Given the description of an element on the screen output the (x, y) to click on. 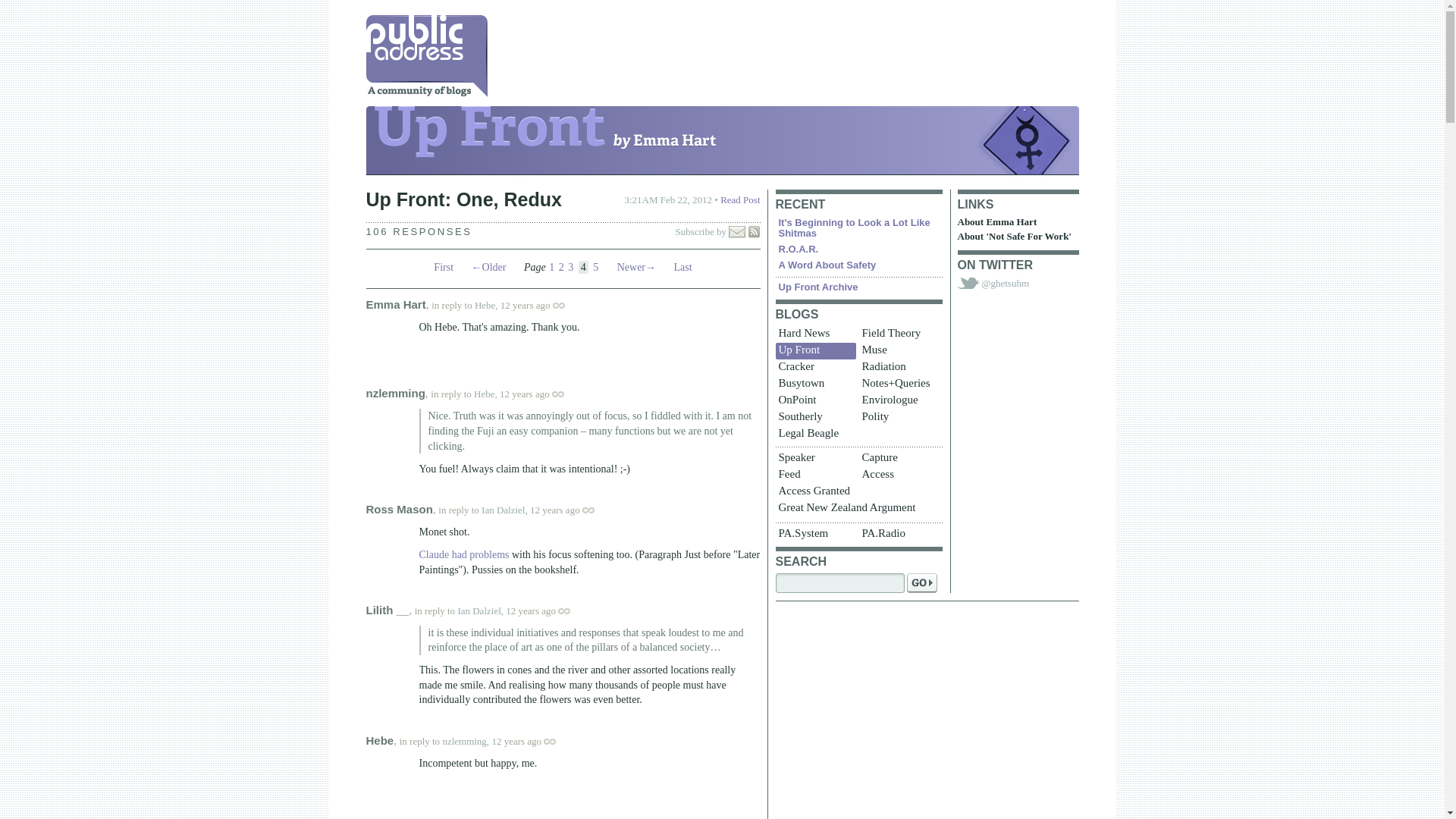
21:21 Feb 22, 2012 (554, 509)
12 years ago (531, 740)
Read Post (740, 199)
12 years ago (569, 509)
20:01 Feb 22, 2012 (524, 393)
21:24 Feb 22, 2012 (530, 610)
12 years ago (539, 305)
Up Front: One, Redux (462, 199)
nzlemming, (465, 740)
Emma Hart (395, 304)
